Given the description of an element on the screen output the (x, y) to click on. 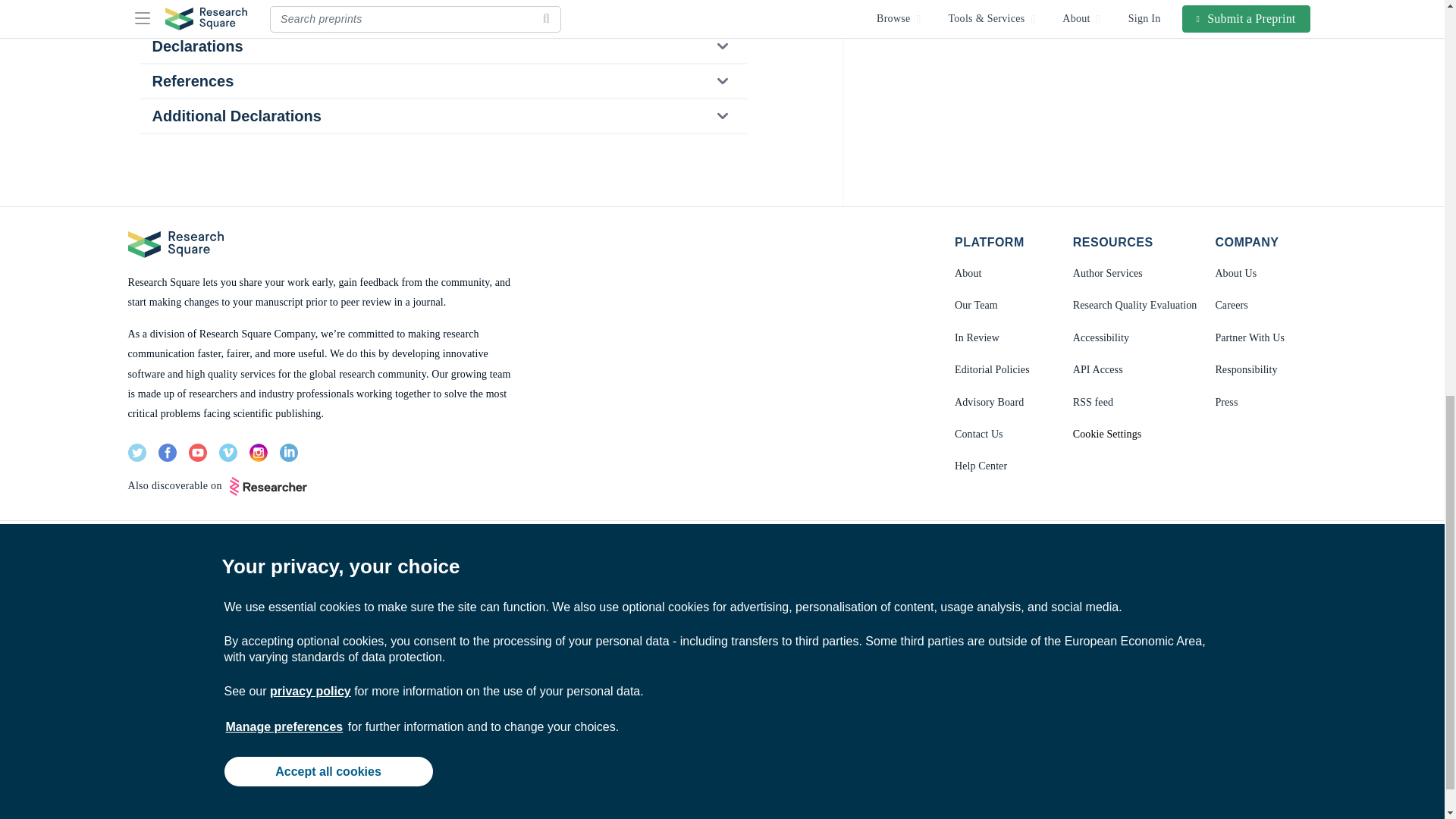
Declarations (442, 46)
Method (442, 13)
References (442, 80)
